Given the description of an element on the screen output the (x, y) to click on. 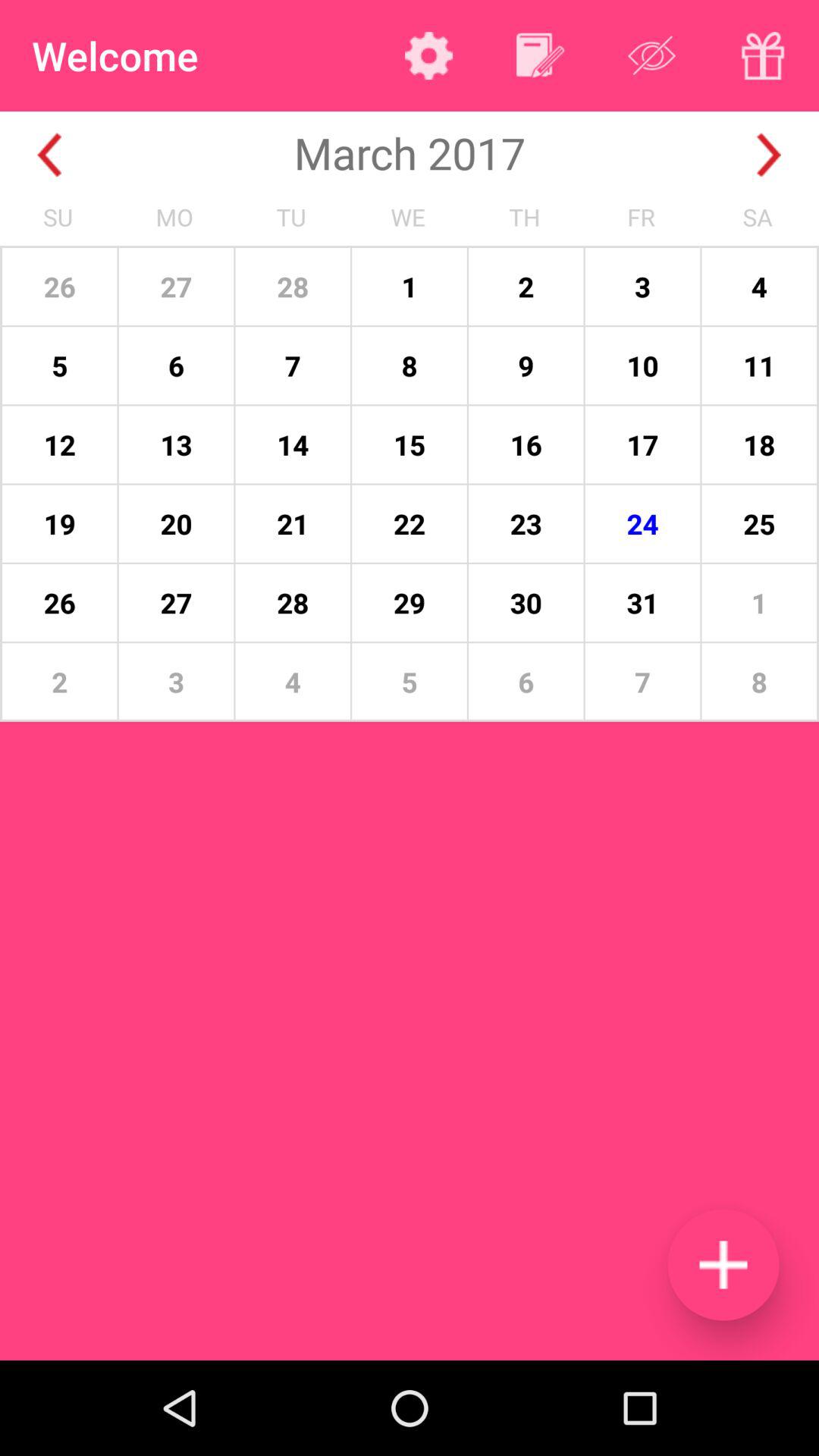
go to settings (428, 55)
